Given the description of an element on the screen output the (x, y) to click on. 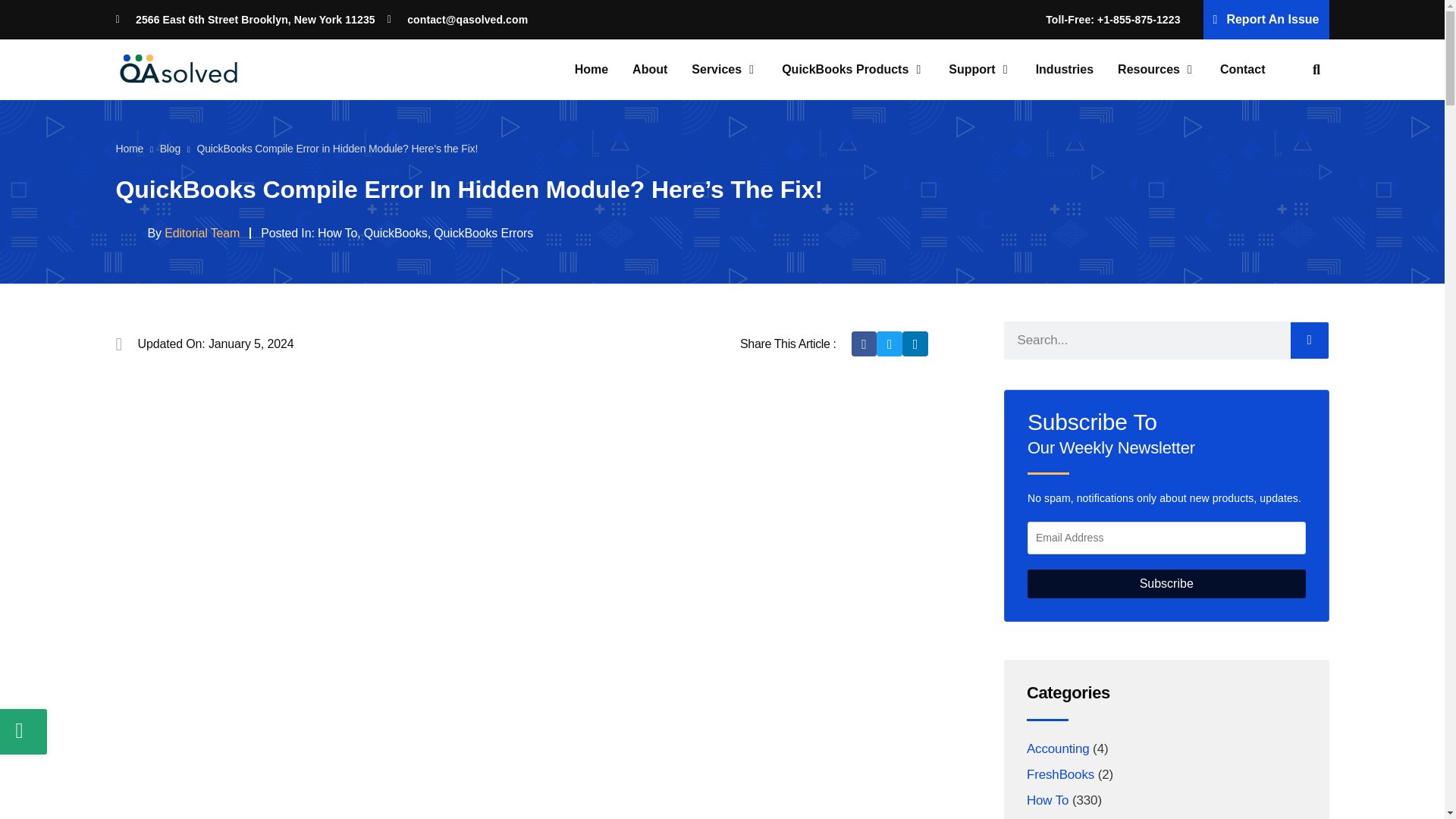
Industries (1064, 69)
QuickBooks Products (844, 69)
Contact (1242, 69)
Report An Issue (1266, 19)
Subscribe (1166, 583)
About (648, 69)
Services (716, 69)
Home (591, 69)
